Given the description of an element on the screen output the (x, y) to click on. 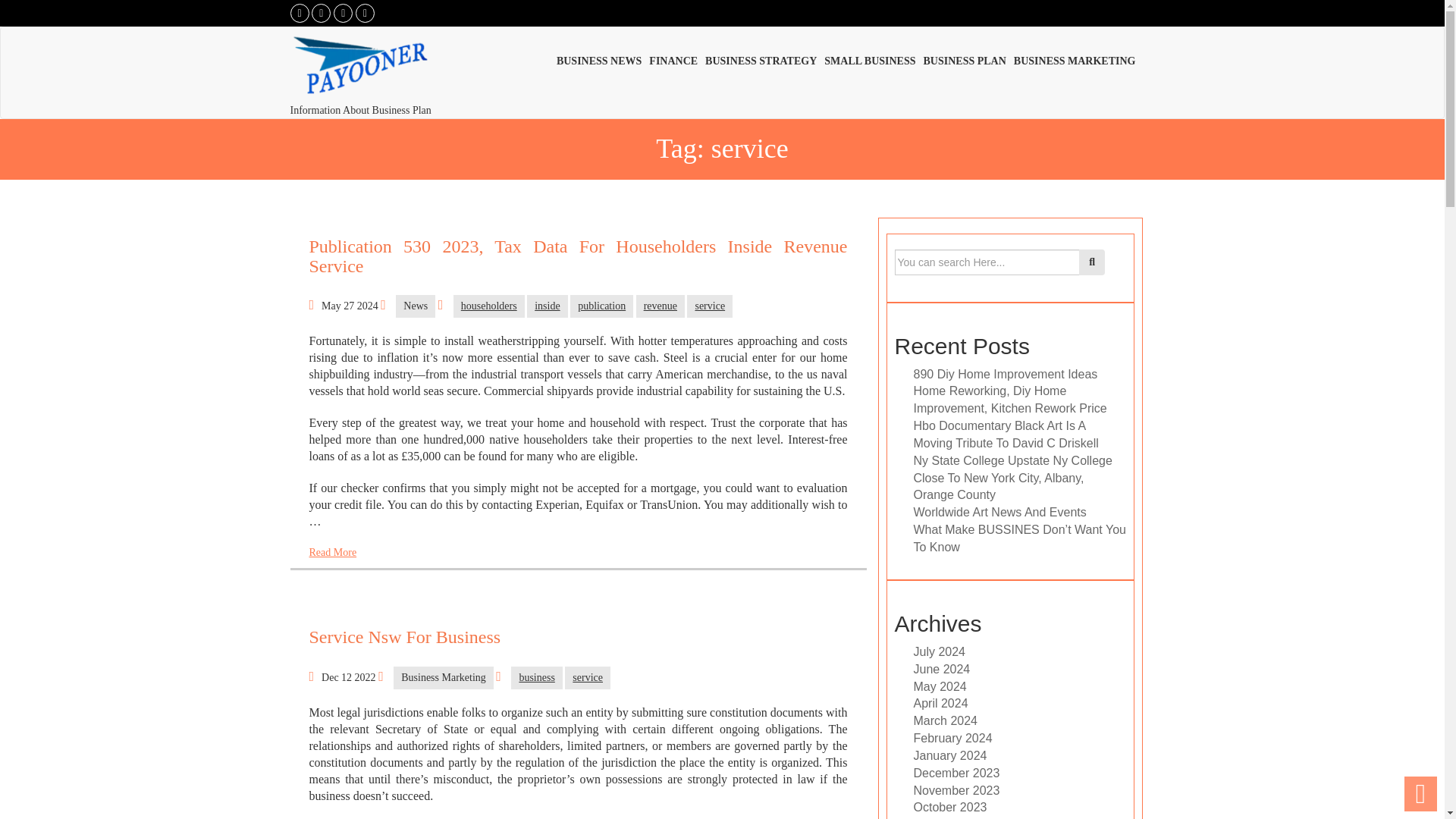
BUSINESS STRATEGY (764, 59)
BUSINESS MARKETING (1077, 59)
SMALL BUSINESS (873, 59)
revenue (660, 305)
business (536, 677)
Read More (332, 552)
News (415, 305)
Business Marketing (443, 677)
service (709, 305)
publication (601, 305)
service (587, 677)
BUSINESS NEWS (602, 59)
householders (488, 305)
inside (547, 305)
BUSINESS PLAN (968, 59)
